Given the description of an element on the screen output the (x, y) to click on. 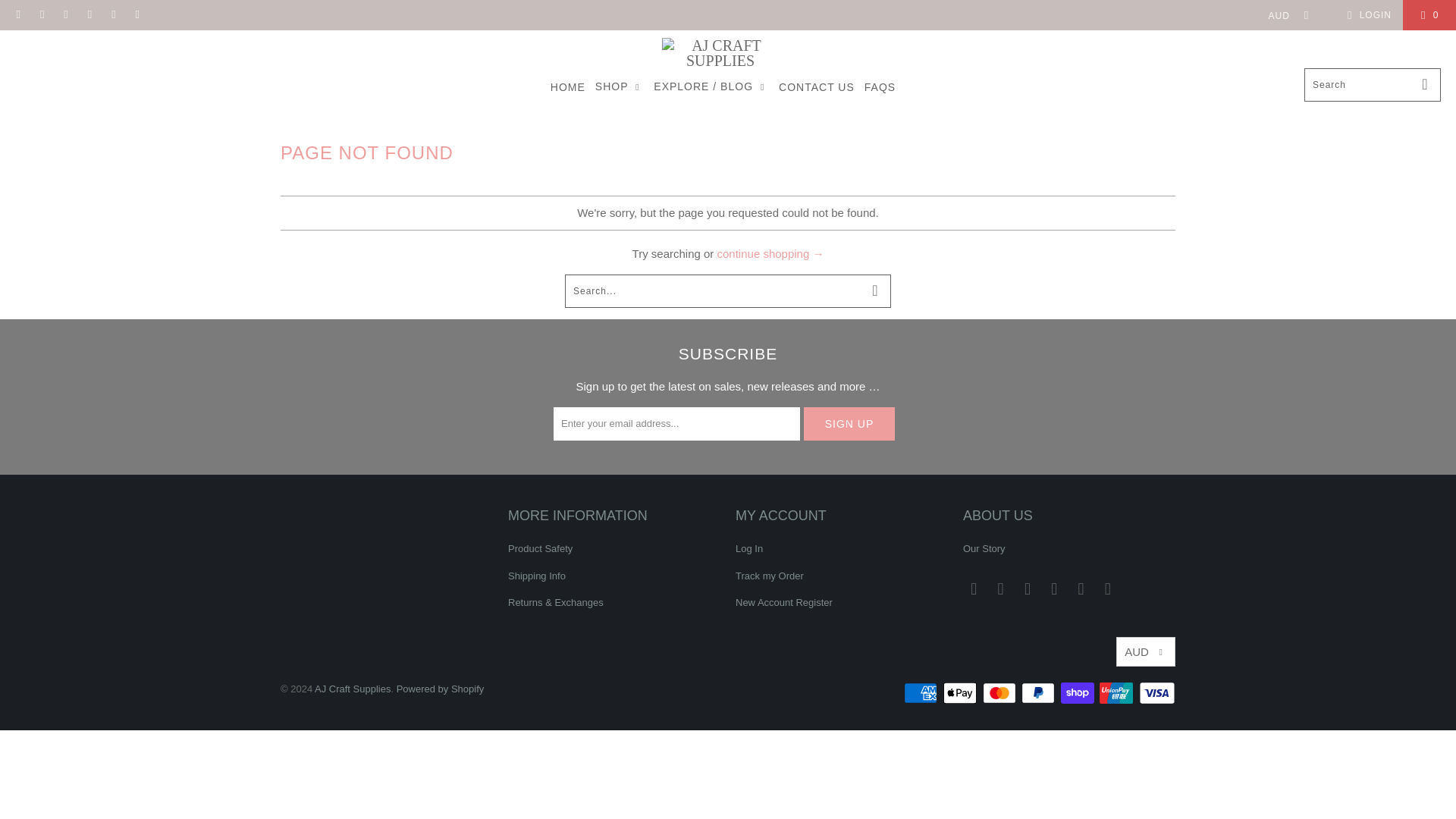
AJ Craft Supplies on Pinterest (1054, 588)
American Express (922, 692)
Email AJ Craft Supplies (973, 588)
Shop Pay (1079, 692)
AJ Craft Supplies on Instagram (1027, 588)
AJ Craft Supplies on Facebook (41, 14)
Apple Pay (961, 692)
Sign Up (849, 423)
AJ Craft Supplies on Facebook (1000, 588)
Visa (1156, 692)
